Given the description of an element on the screen output the (x, y) to click on. 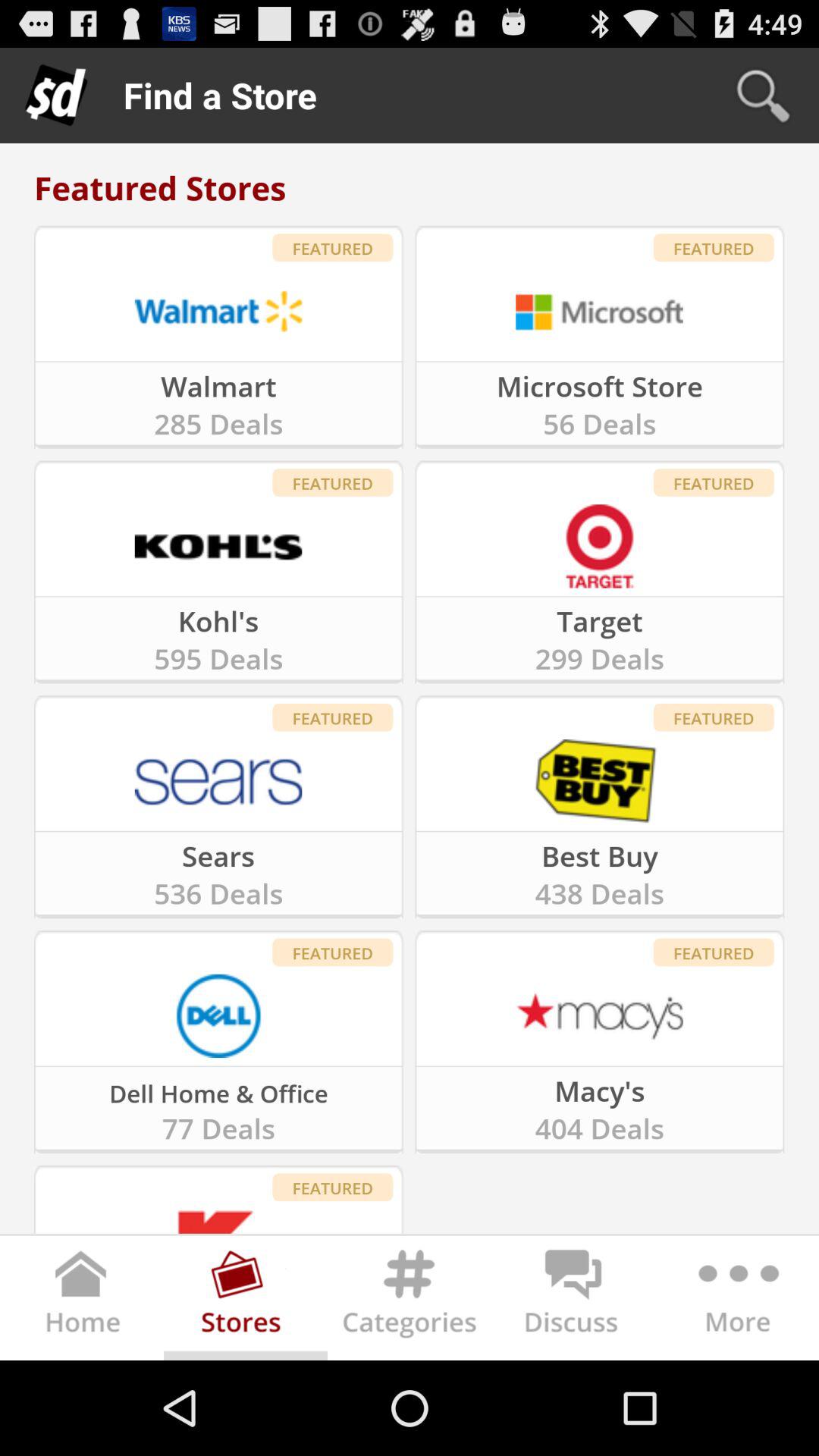
takes to forum (573, 1301)
